Given the description of an element on the screen output the (x, y) to click on. 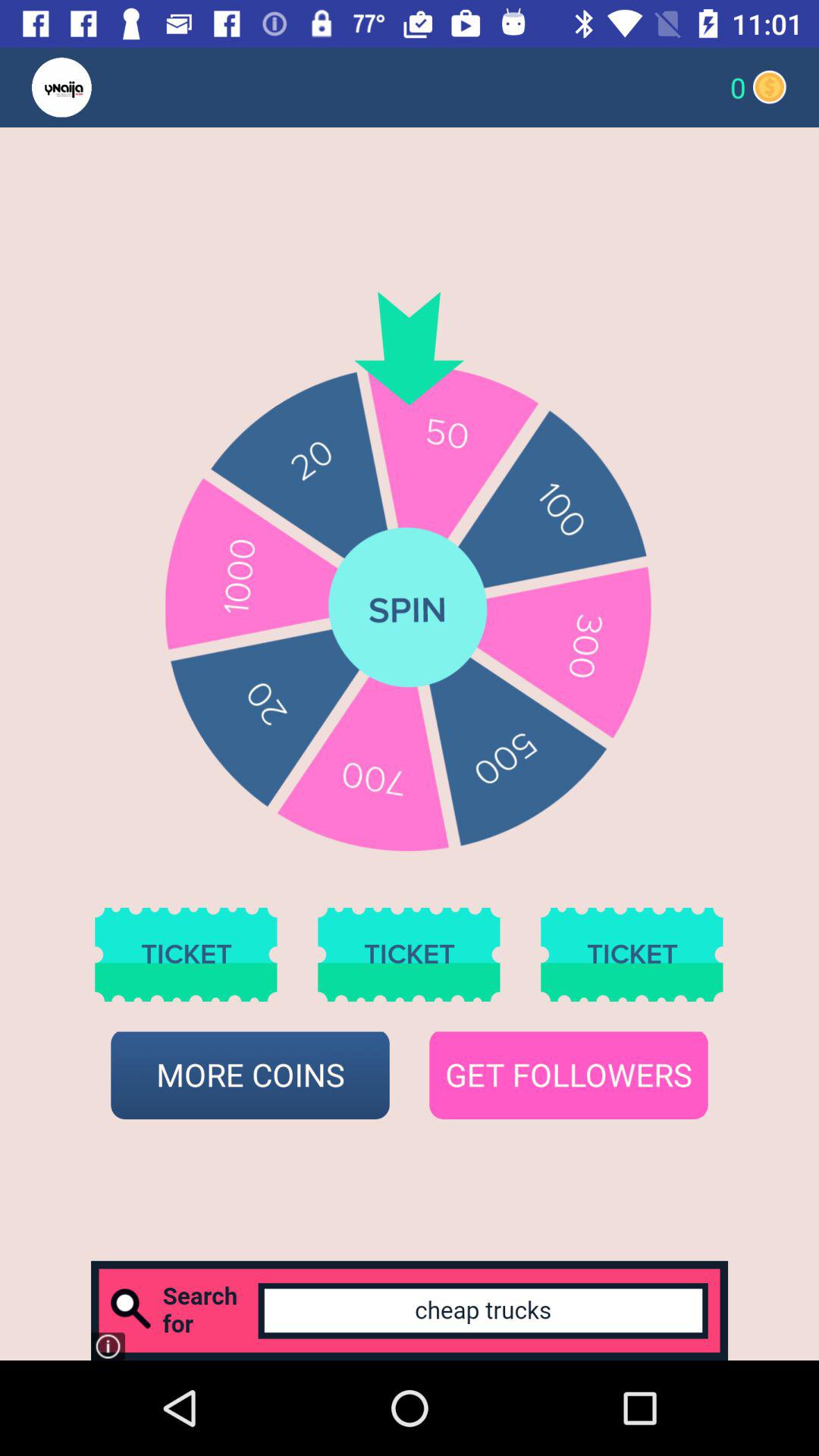
spin the wheel (408, 609)
